Given the description of an element on the screen output the (x, y) to click on. 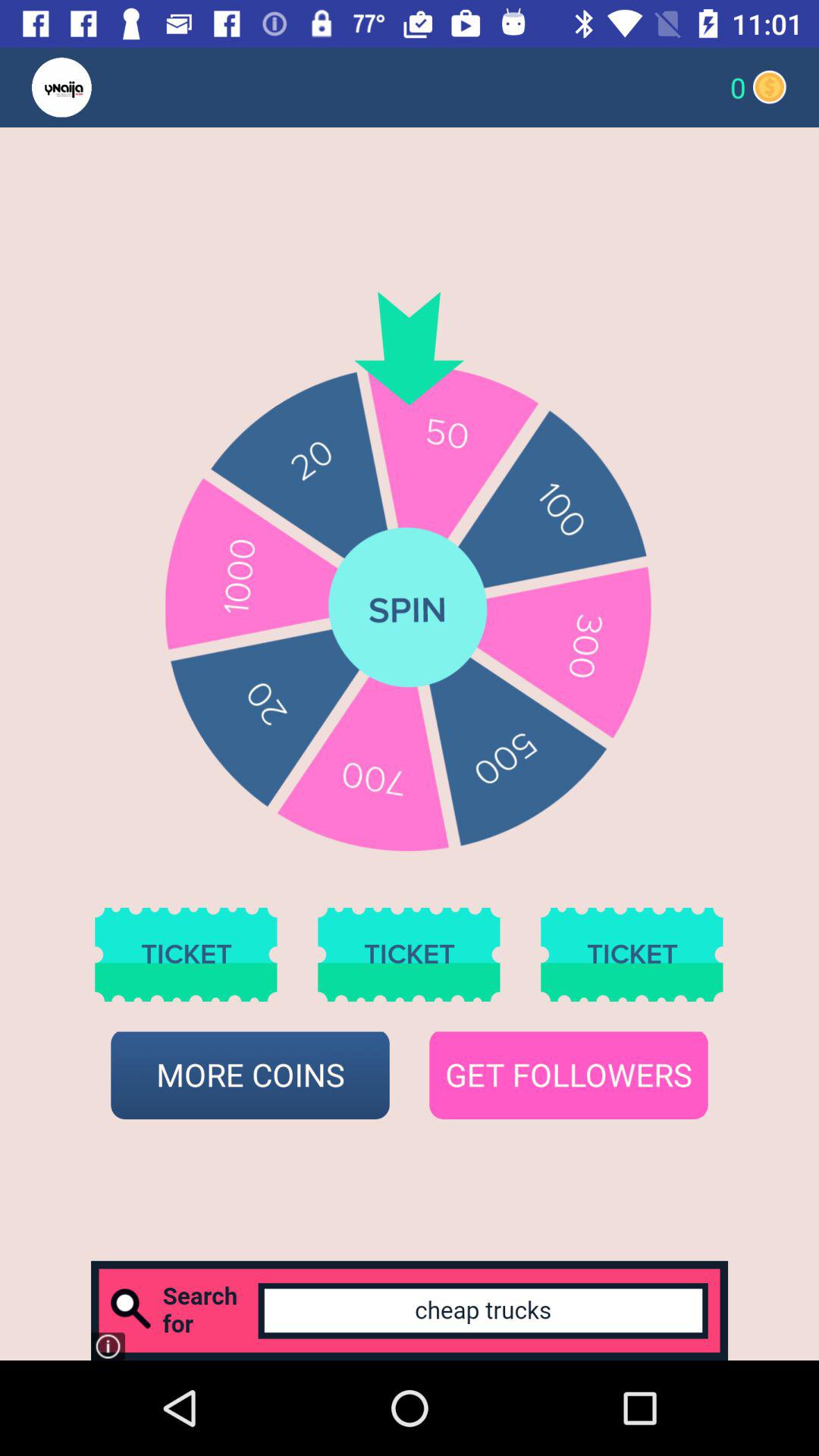
spin the wheel (408, 609)
